Given the description of an element on the screen output the (x, y) to click on. 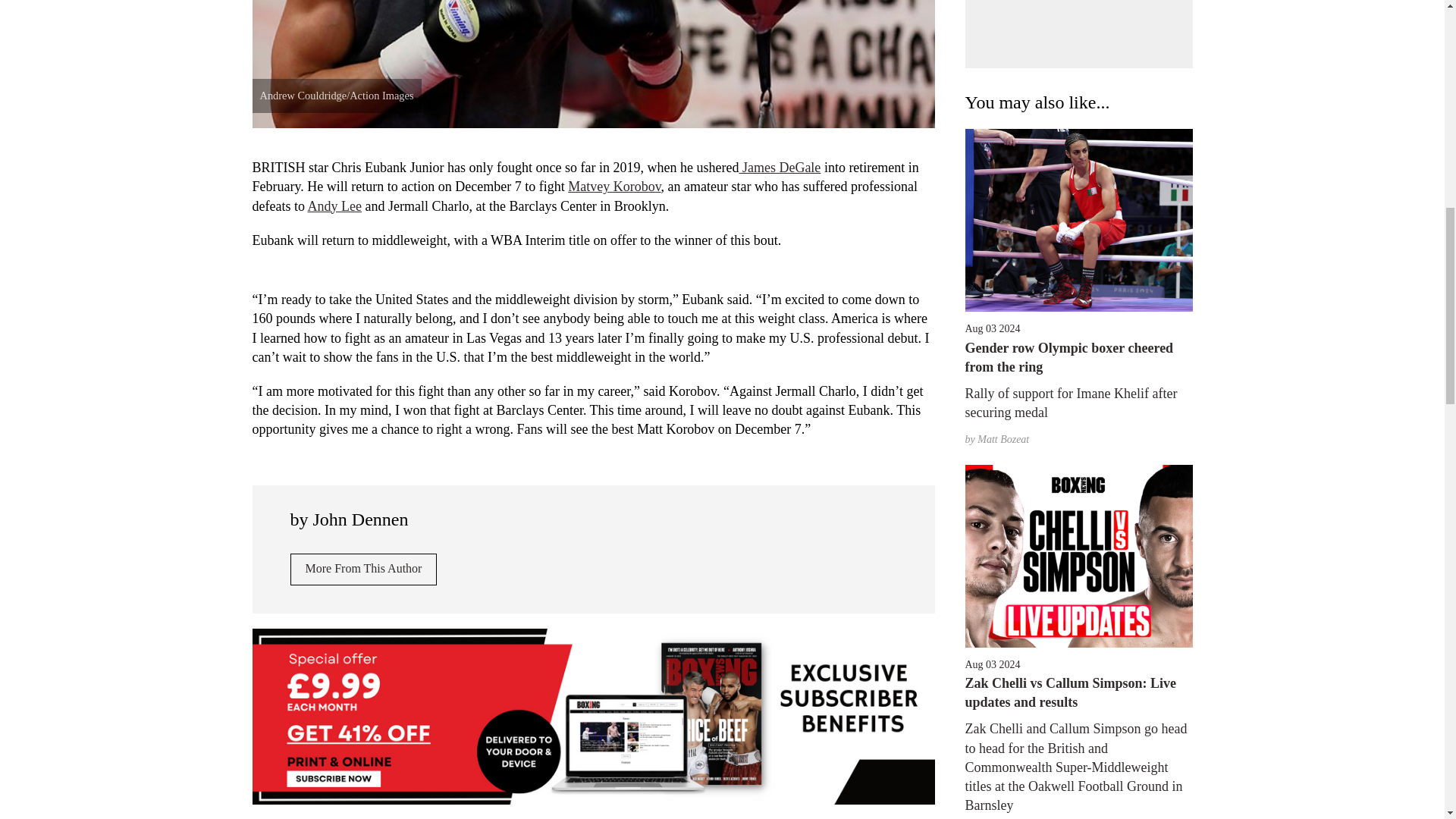
James DeGale (779, 167)
